Given the description of an element on the screen output the (x, y) to click on. 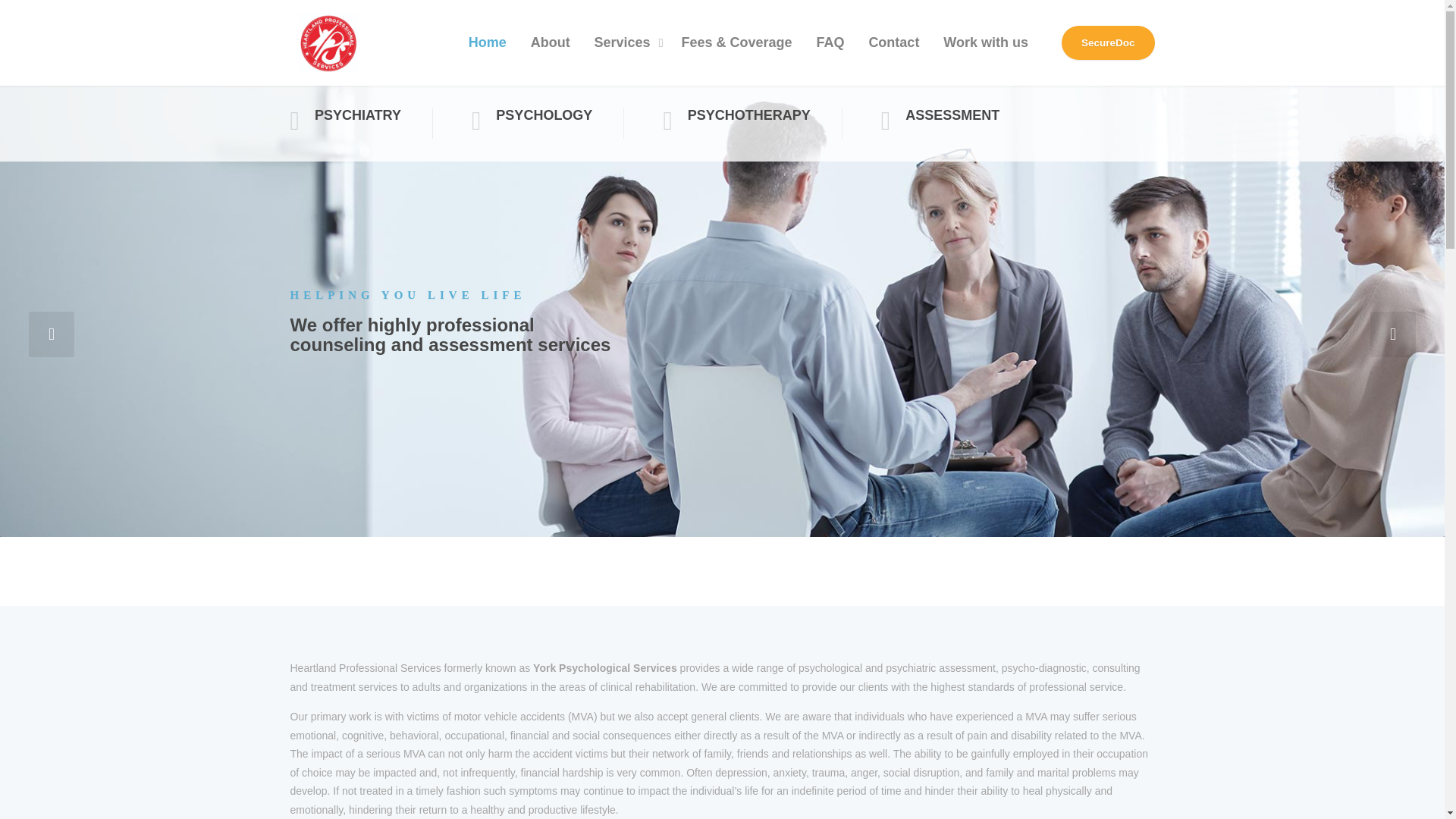
Services (625, 42)
Work with us (986, 42)
SecureDoc (1107, 42)
